Given the description of an element on the screen output the (x, y) to click on. 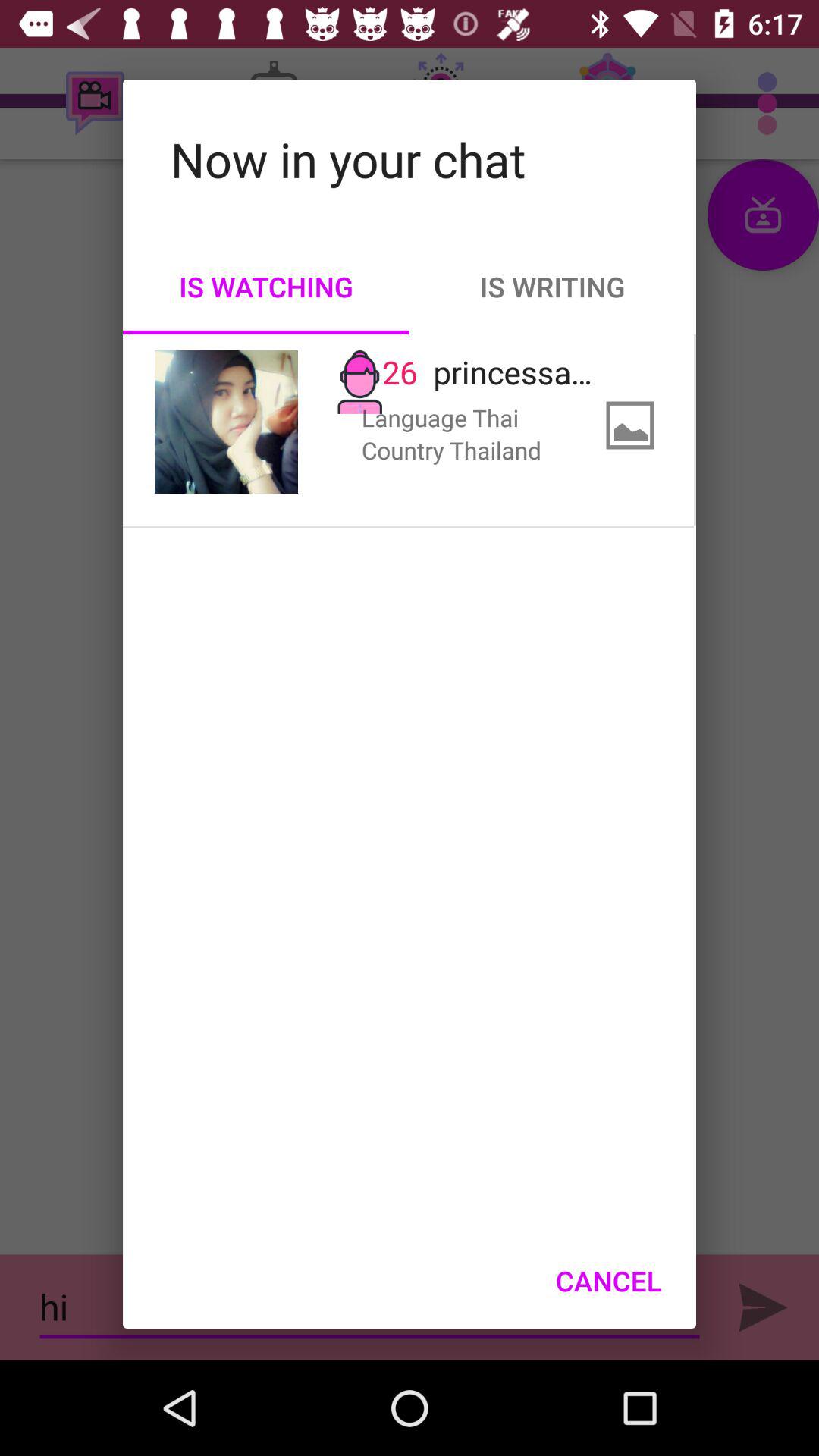
select icon next to 26 (226, 421)
